Given the description of an element on the screen output the (x, y) to click on. 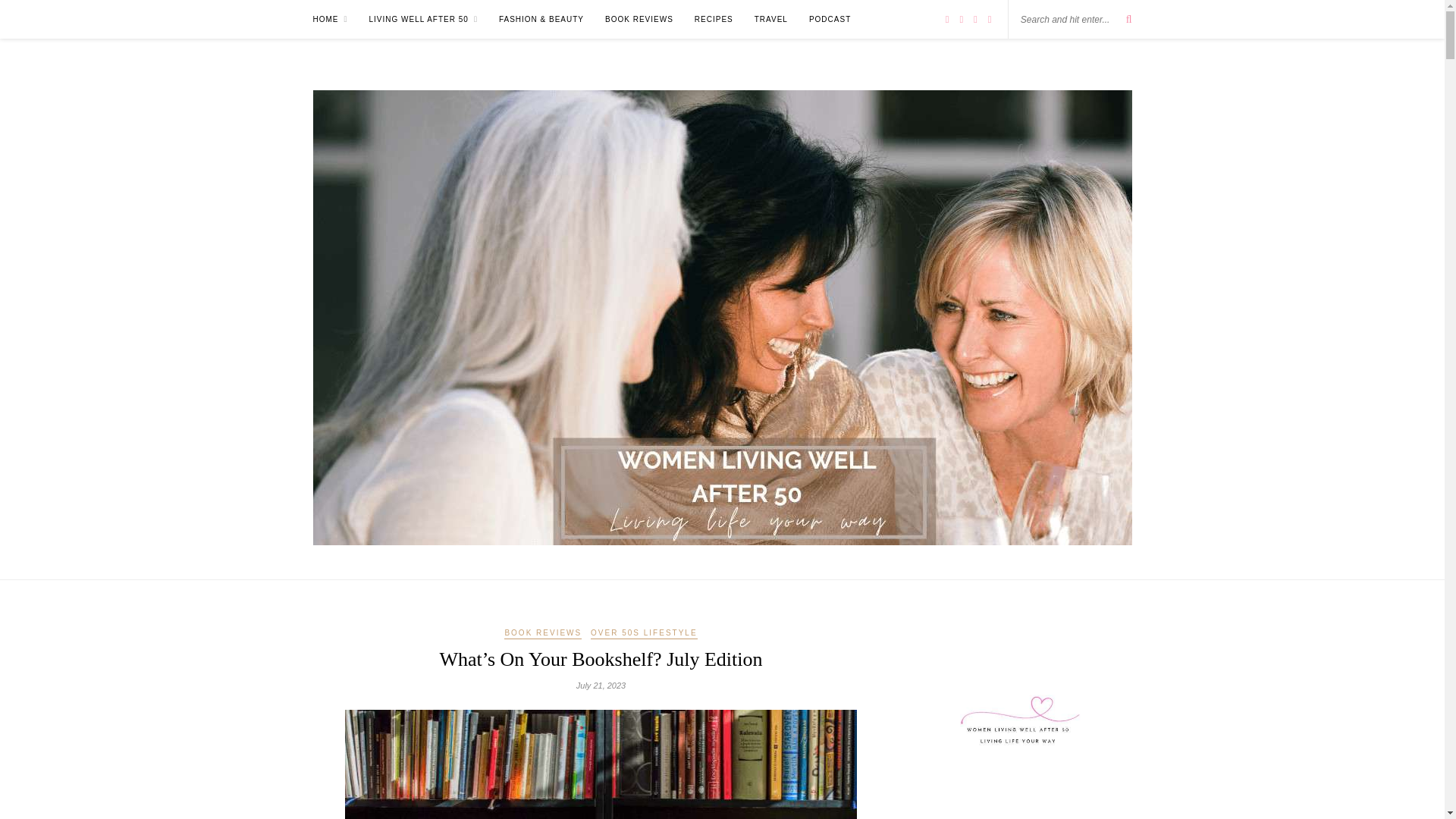
Living Well After 50 (423, 19)
PODCAST (829, 19)
OVER 50S LIFESTYLE (644, 633)
View all posts in Book Reviews (541, 633)
BOOK REVIEWS (541, 633)
BOOK REVIEWS (638, 19)
LIVING WELL AFTER 50 (423, 19)
RECIPES (713, 19)
HOME (330, 19)
View all posts in Over 50s Lifestyle (644, 633)
